Given the description of an element on the screen output the (x, y) to click on. 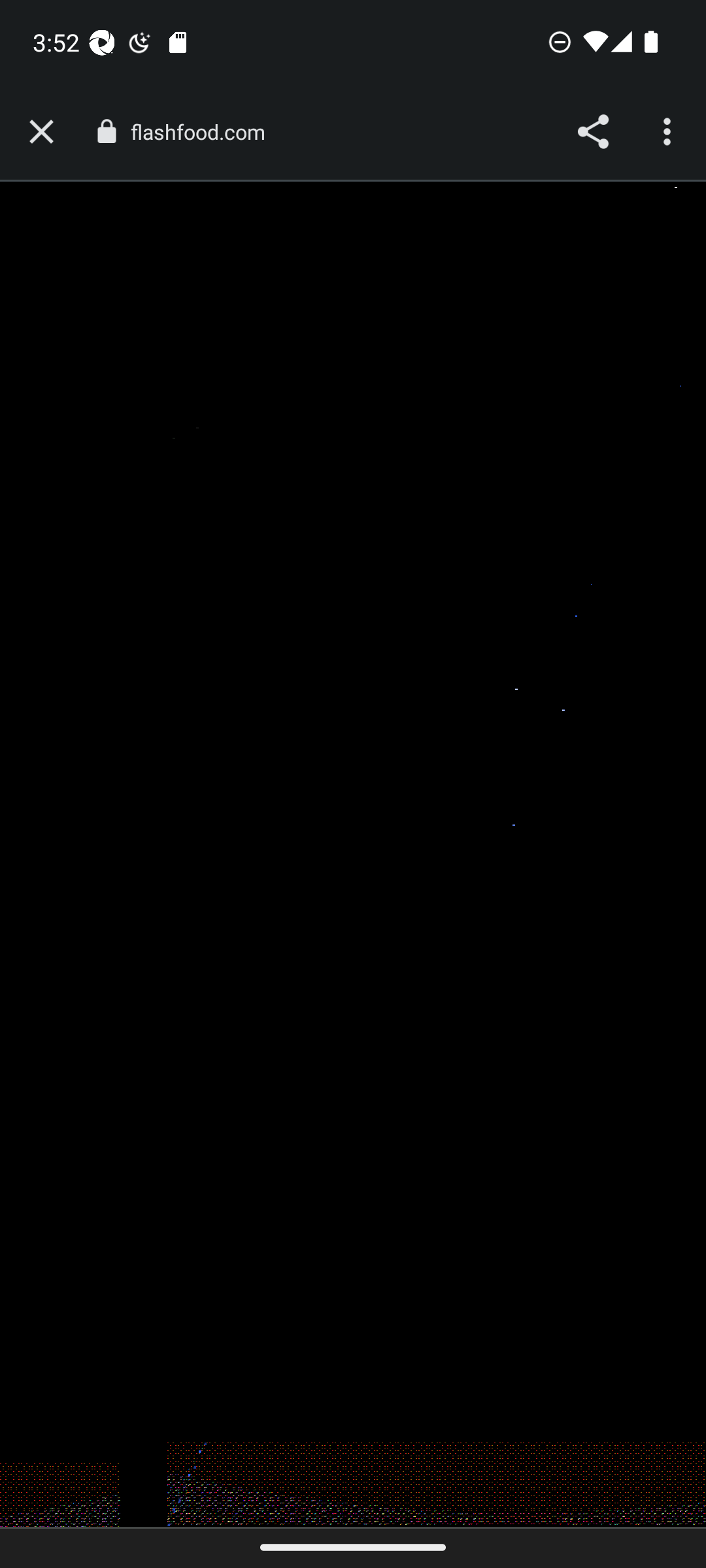
Close tab (41, 131)
Share (592, 131)
More options (669, 131)
Connection is secure (106, 131)
flashfood.com (204, 131)
